Given the description of an element on the screen output the (x, y) to click on. 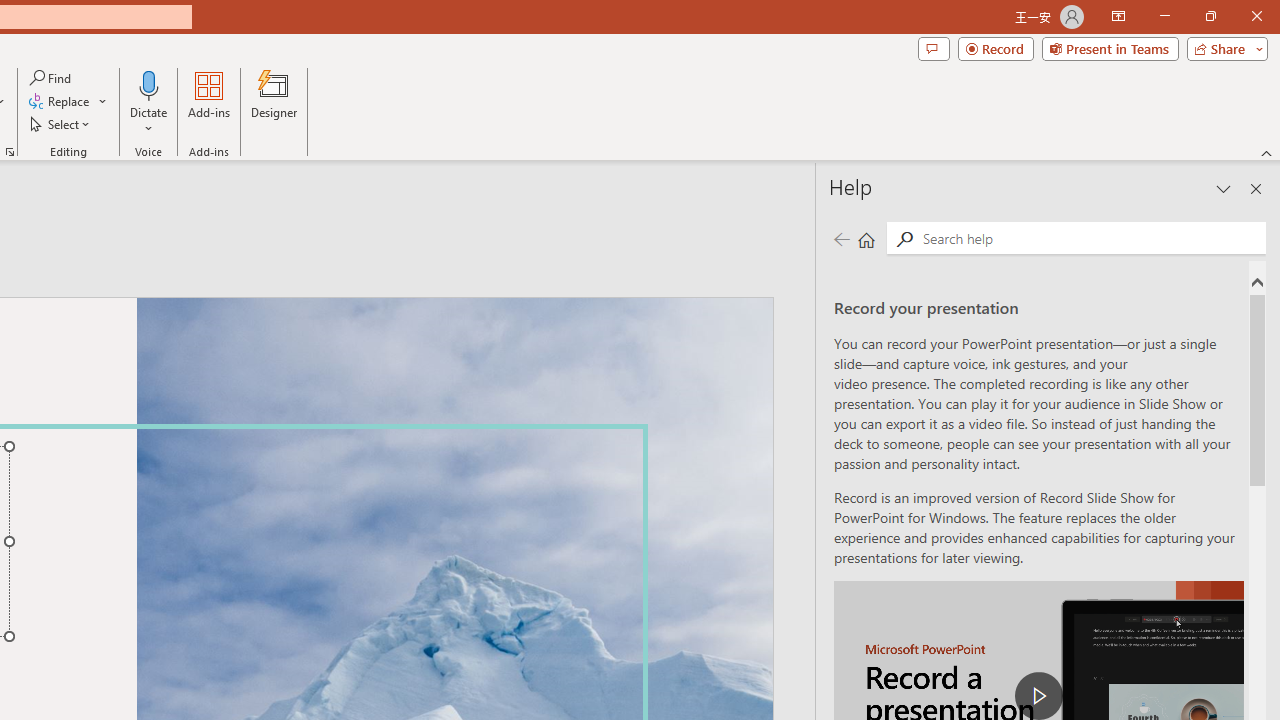
Dictate (149, 84)
Task Pane Options (1224, 188)
Search (904, 238)
play Record a Presentation (1038, 695)
Find... (51, 78)
Previous page (841, 238)
Close pane (1256, 188)
Search (1089, 237)
